Given the description of an element on the screen output the (x, y) to click on. 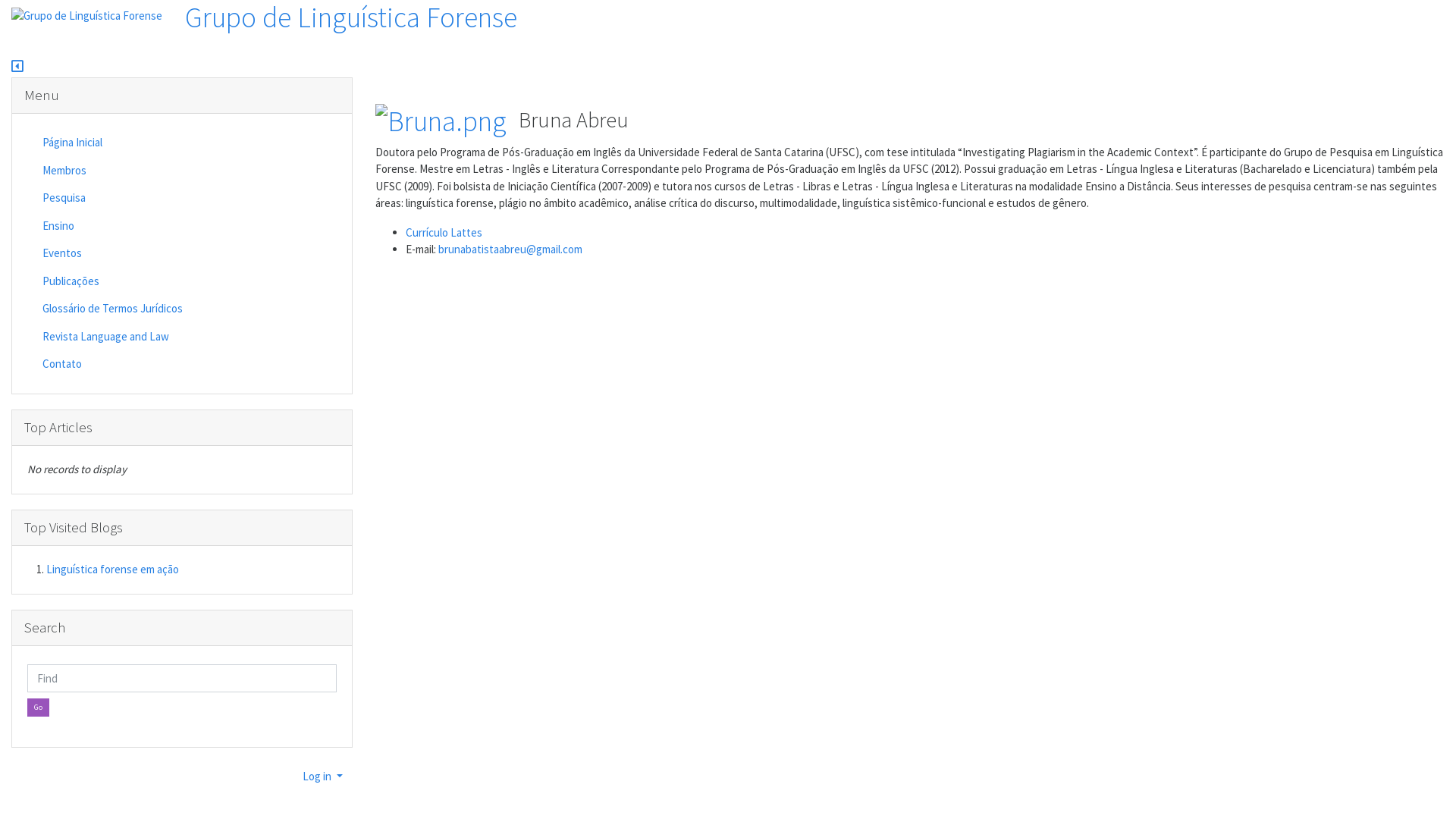
Pesquisa Element type: text (112, 198)
Revista Language and Law Element type: text (112, 337)
Ensino Element type: text (112, 226)
Toggle left modules Element type: hover (17, 68)
Eventos Element type: text (112, 253)
Membros Element type: text (112, 170)
Log in Element type: text (322, 776)
Contato Element type: text (112, 364)
Go Element type: text (38, 707)
brunabatistaabreu@gmail.com Element type: text (510, 248)
